Given the description of an element on the screen output the (x, y) to click on. 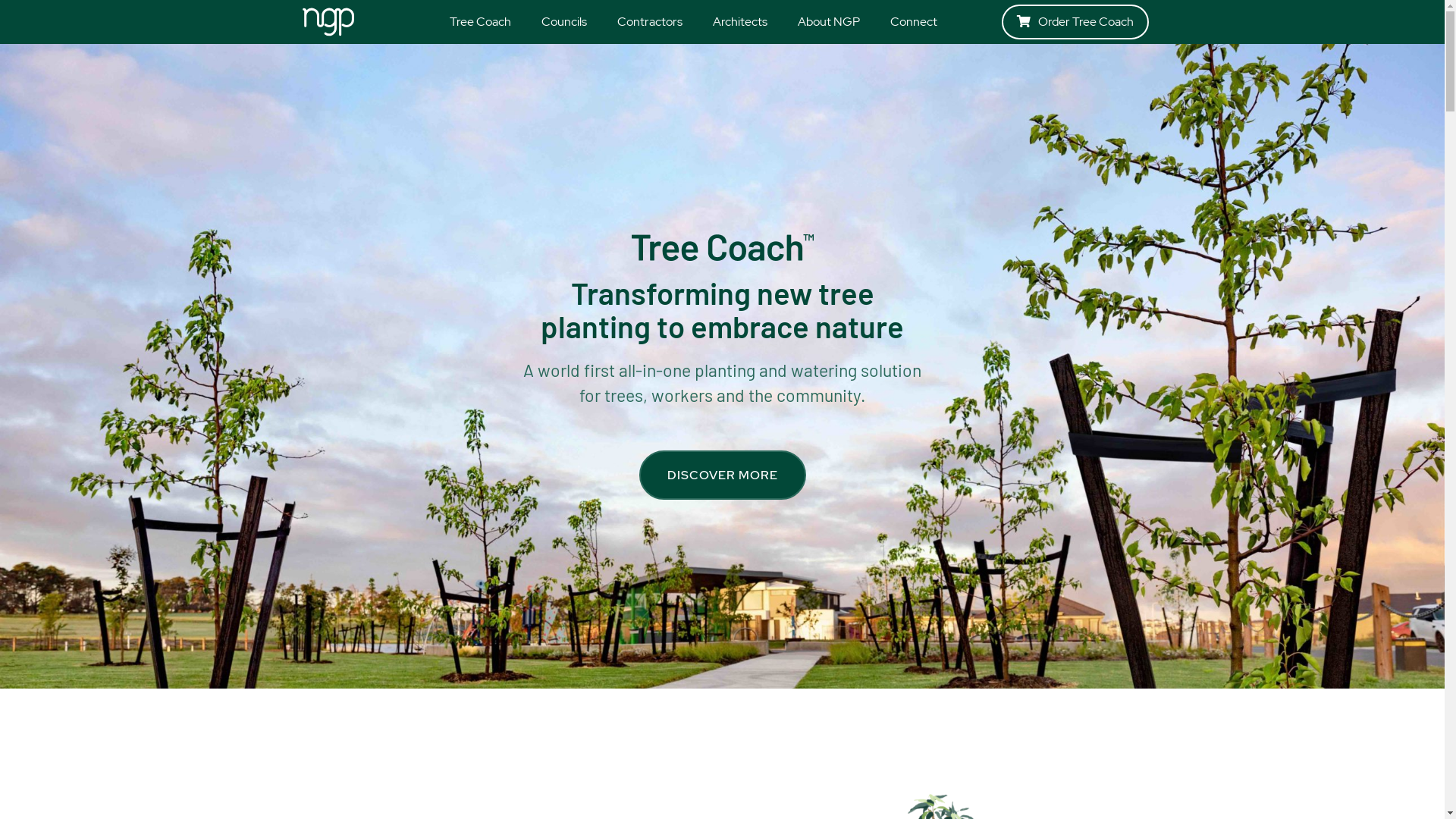
Councils Element type: text (564, 21)
Order Tree Coach Element type: text (1074, 21)
Tree Coach Element type: text (480, 21)
Architects Element type: text (739, 21)
DISCOVER MORE Element type: text (721, 474)
About NGP Element type: text (828, 21)
Contractors Element type: text (649, 21)
Connect Element type: text (913, 21)
